Given the description of an element on the screen output the (x, y) to click on. 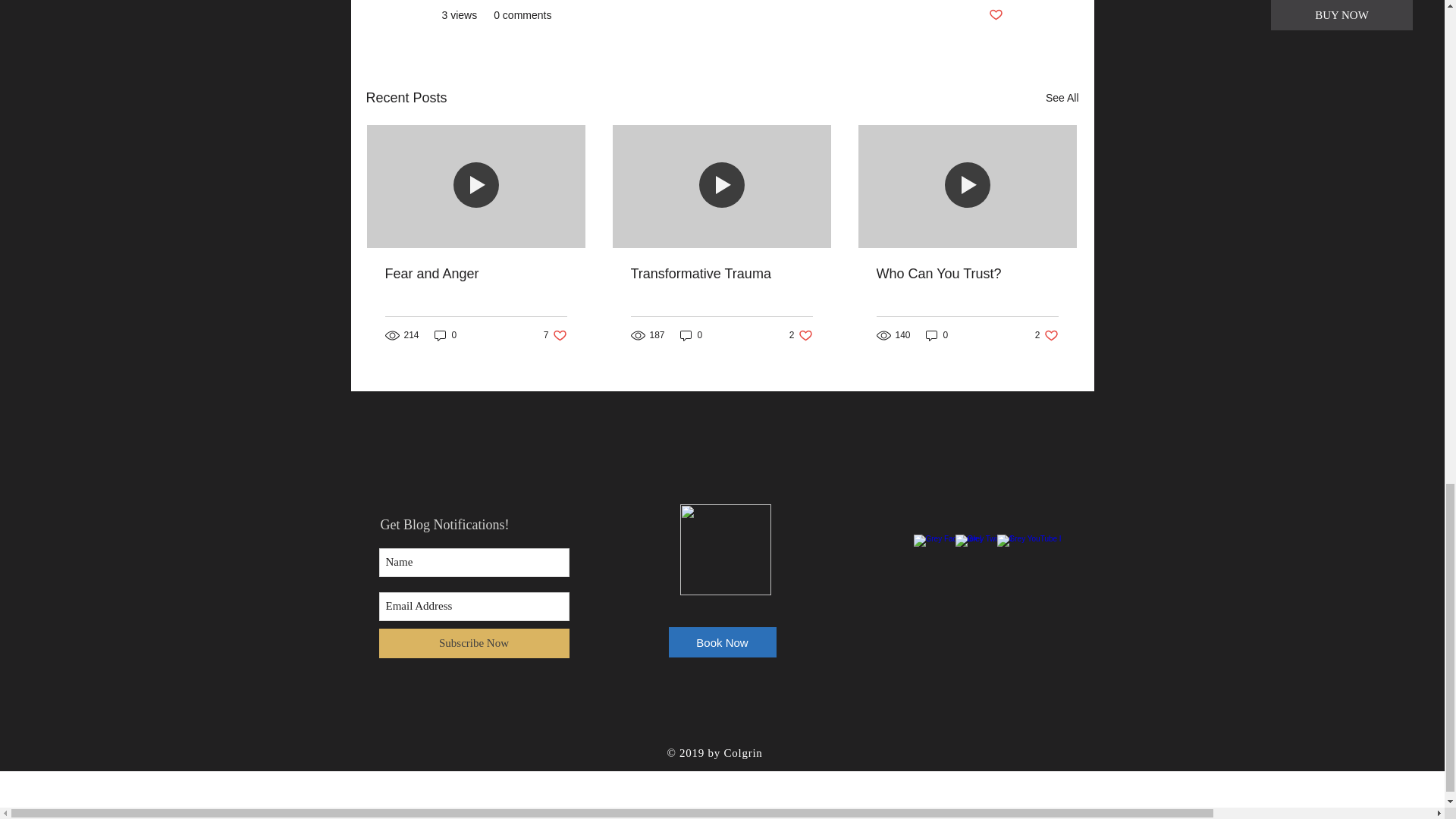
Who Can You Trust? (967, 273)
Subscribe Now (473, 643)
0 (1046, 335)
See All (691, 335)
0 (1061, 97)
Transformative Trauma (800, 335)
Post not marked as liked (555, 335)
0 (937, 335)
Book Now (721, 273)
Fear and Anger (995, 15)
